Given the description of an element on the screen output the (x, y) to click on. 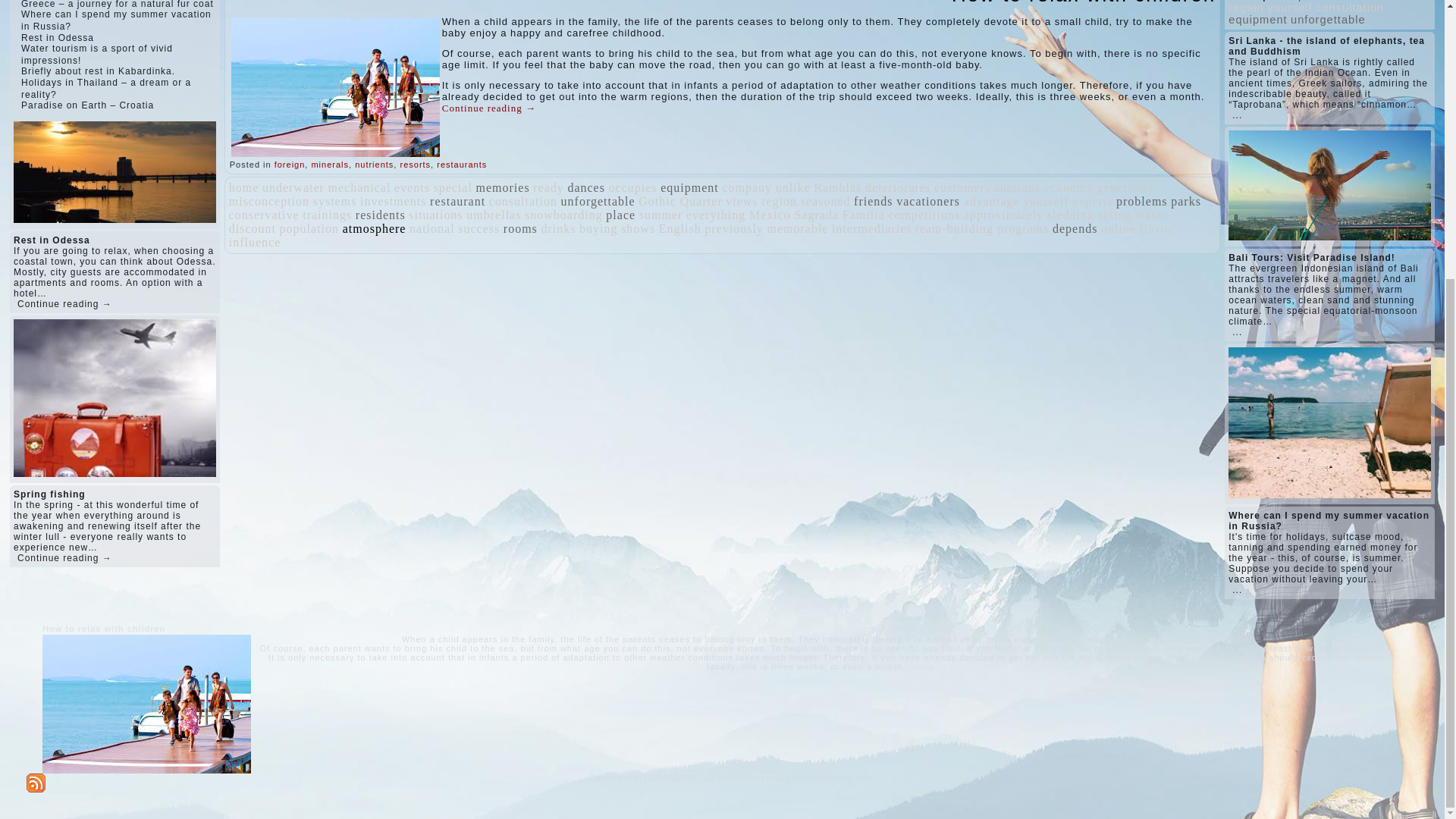
Where can I spend my summer vacation in Russia? (116, 20)
Water tourism is a sport of vivid impressions! (97, 54)
foreign (290, 163)
Rest in Odessa (57, 36)
nutrients (374, 163)
How to relax with children (1083, 2)
Where can I spend my summer vacation in Russia? (116, 20)
Rest in Odessa (57, 36)
resorts (414, 163)
Briefly about rest in Kabardinka. (97, 71)
